Given the description of an element on the screen output the (x, y) to click on. 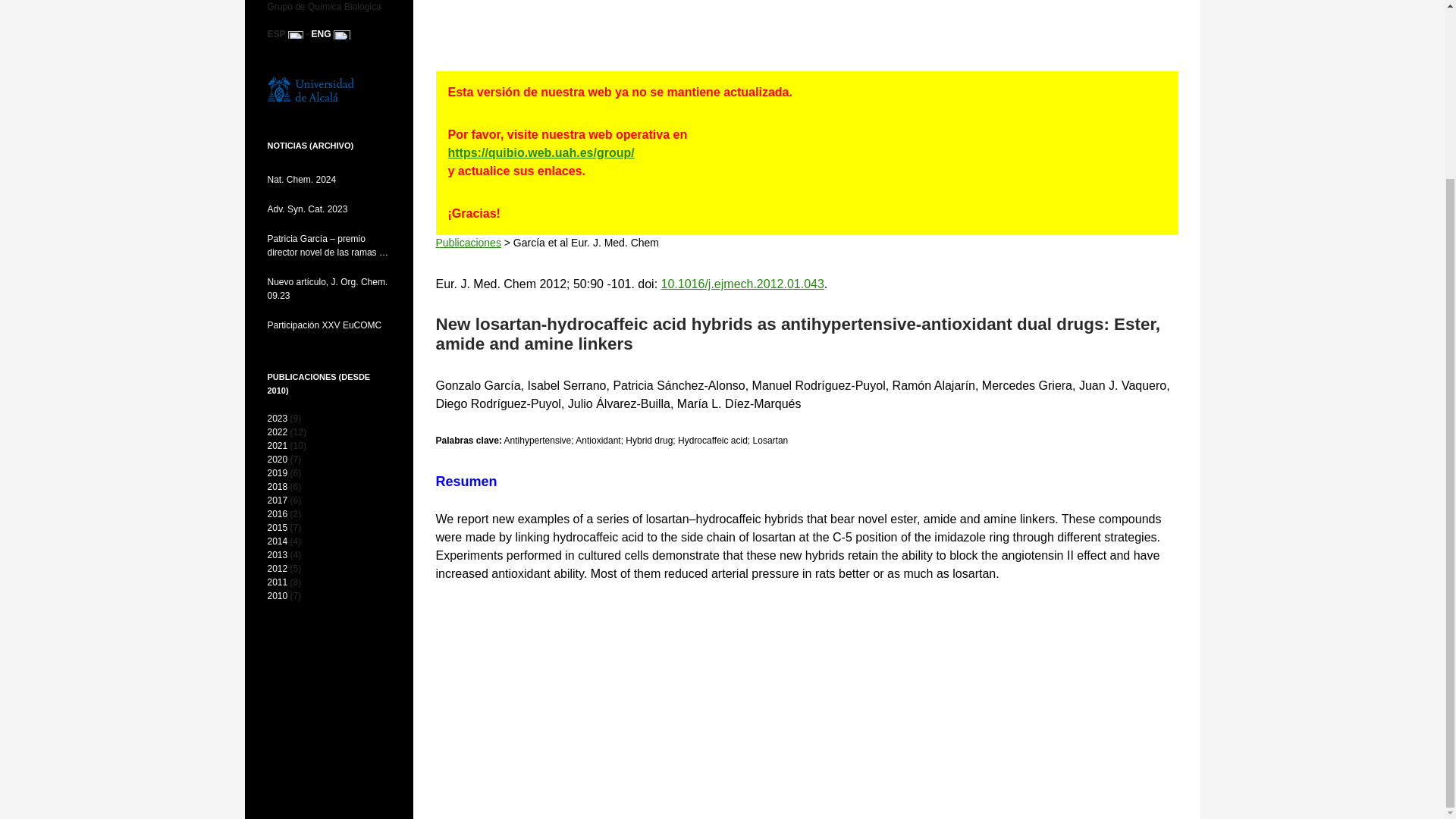
Adv. Syn. Cat. 2023 (328, 209)
Publicaciones (467, 242)
ENG (321, 33)
Nat. Chem. 2024 (328, 179)
